Given the description of an element on the screen output the (x, y) to click on. 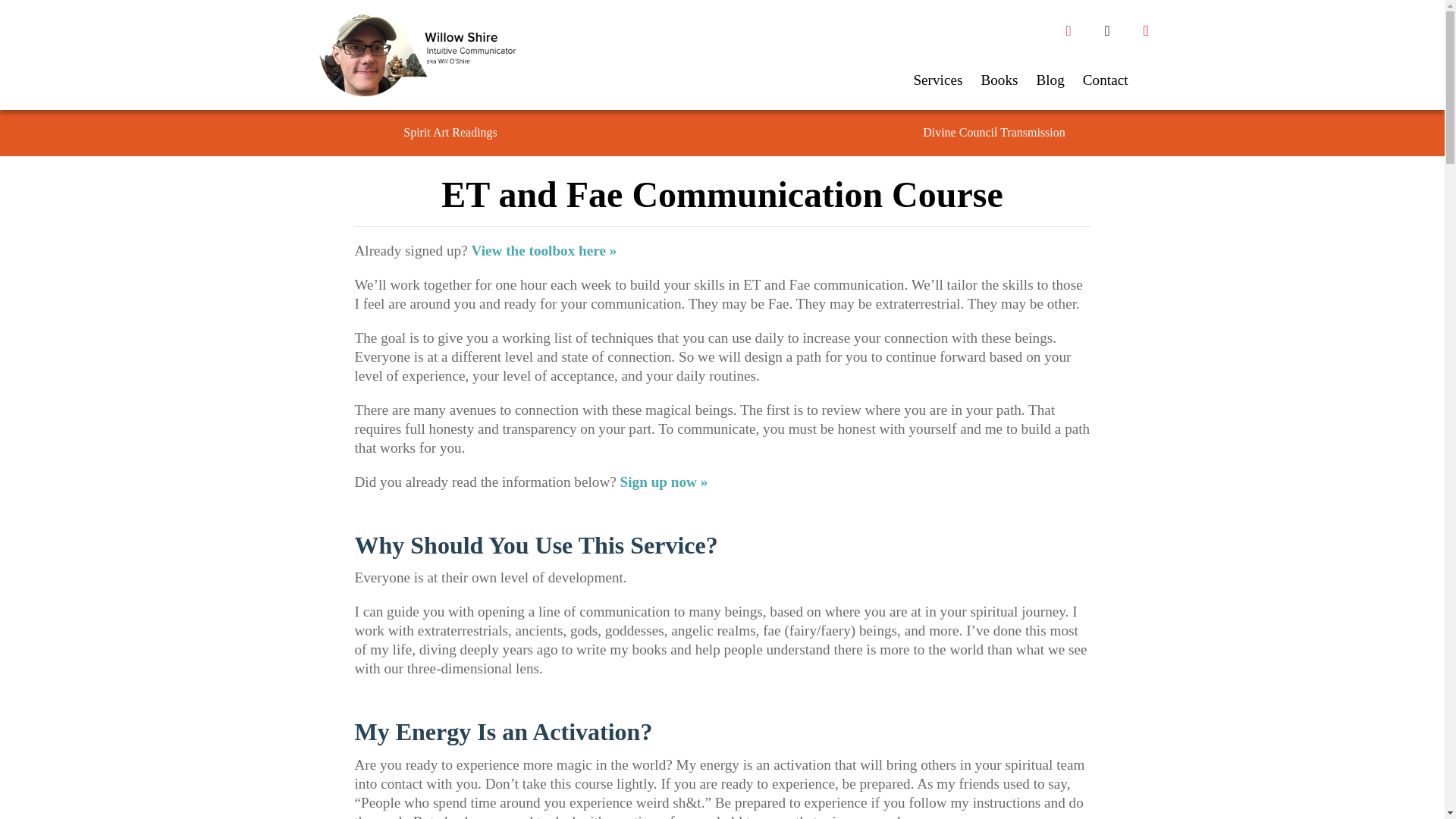
Services (937, 84)
Divine Council Transmission (993, 132)
Contact (1105, 84)
Spirit Art Readings (451, 132)
Blog (1049, 84)
Books (998, 84)
